Given the description of an element on the screen output the (x, y) to click on. 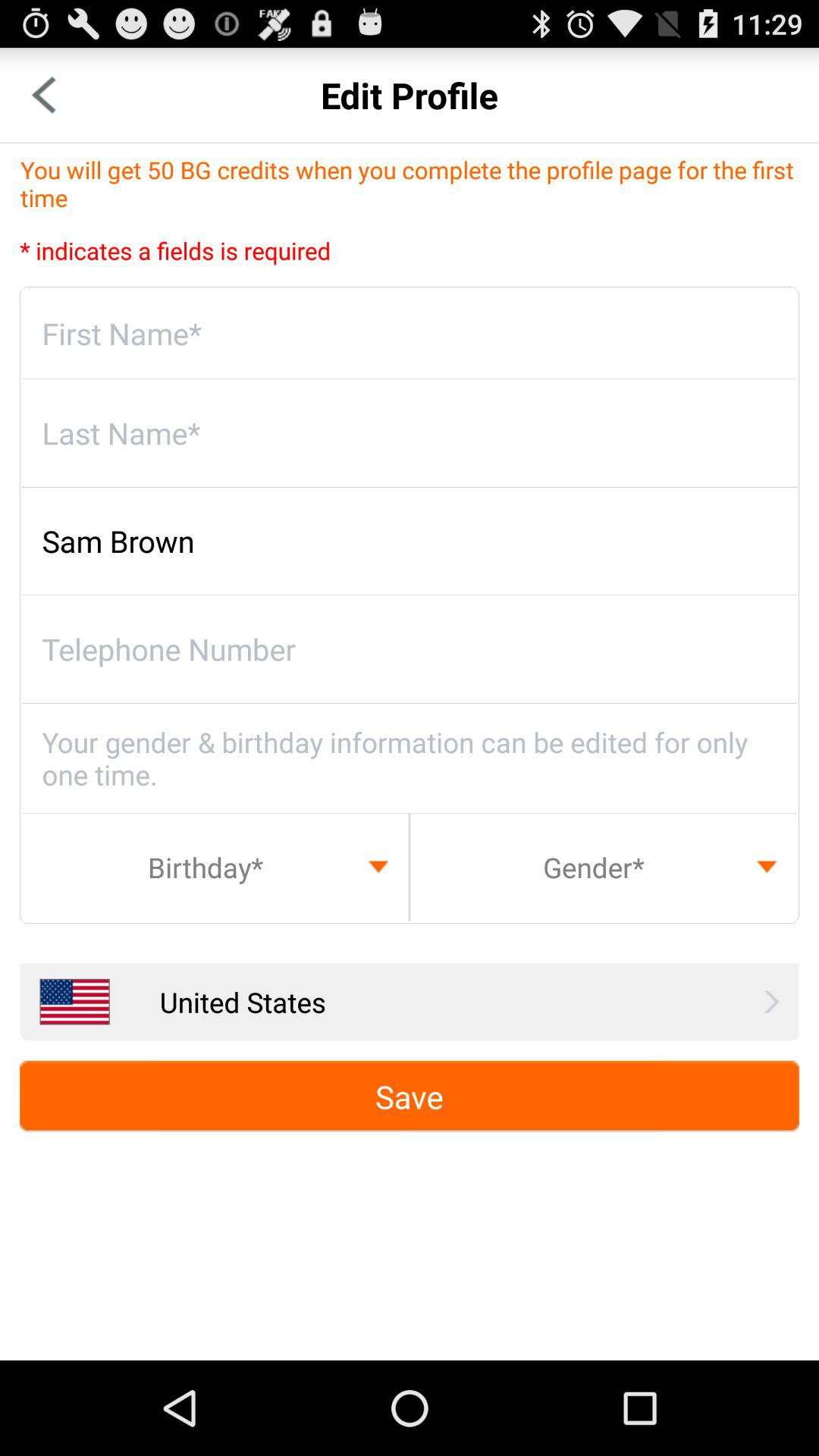
insert number (409, 648)
